Given the description of an element on the screen output the (x, y) to click on. 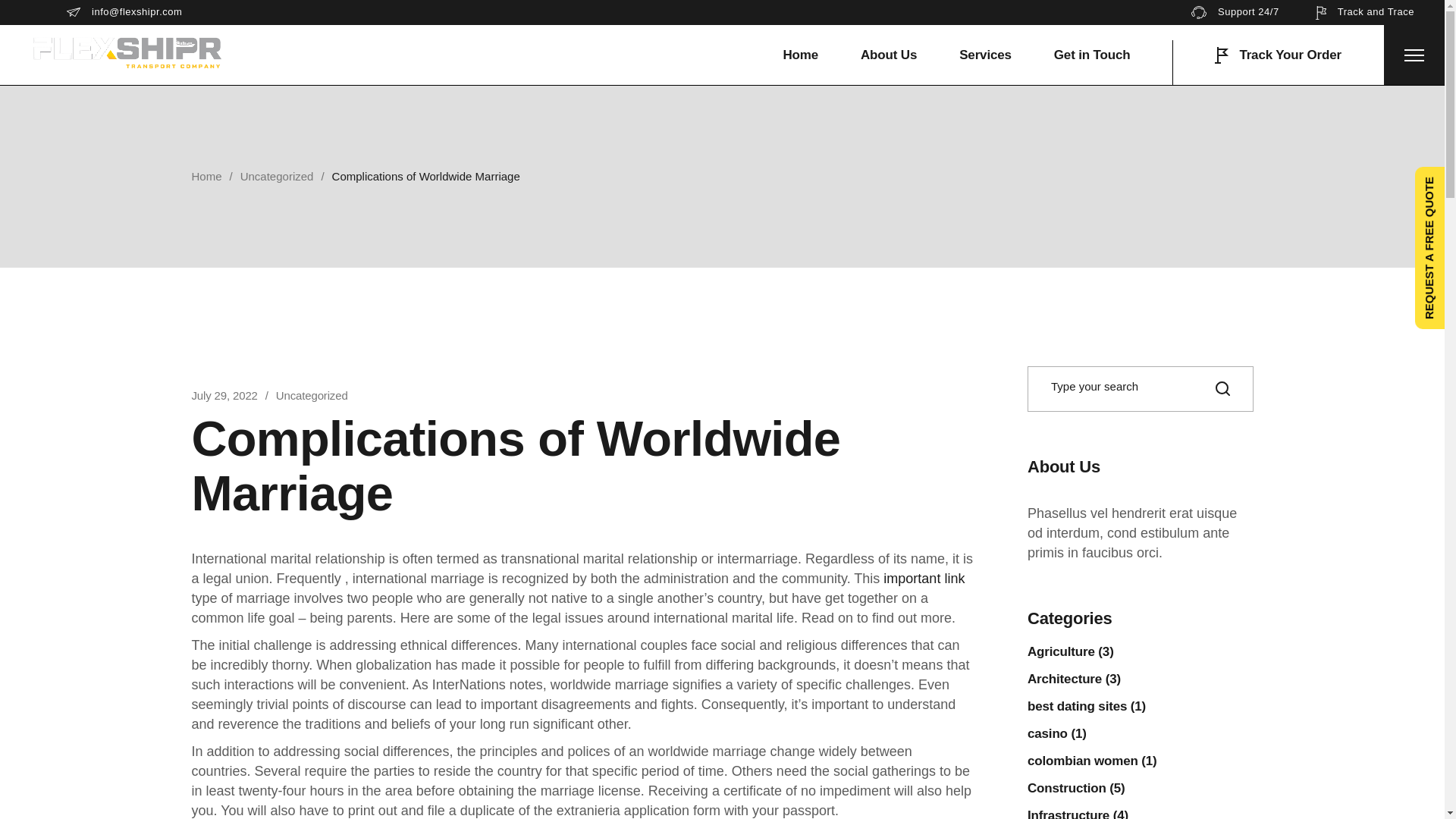
Track and Trace (1364, 12)
Uncategorized (277, 175)
important link (923, 578)
About Us (888, 55)
Uncategorized (311, 395)
Home (205, 175)
Get in Touch (1092, 55)
July 29, 2022 (223, 395)
